Given the description of an element on the screen output the (x, y) to click on. 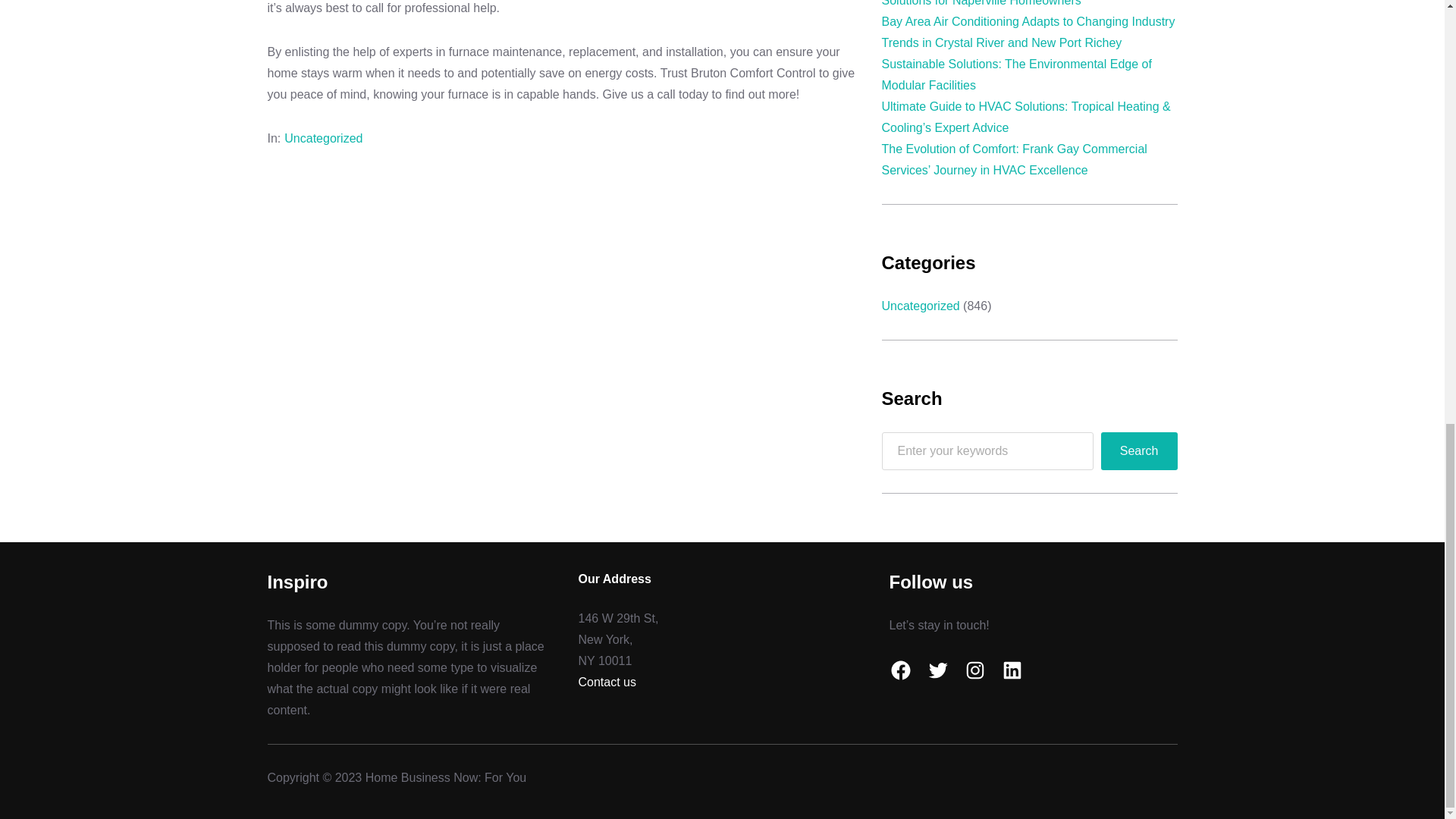
Instagram (973, 670)
Search (1138, 451)
Twitter (937, 670)
Facebook (899, 670)
Contact us (606, 681)
LinkedIn (1012, 670)
Uncategorized (919, 305)
Uncategorized (322, 137)
